Given the description of an element on the screen output the (x, y) to click on. 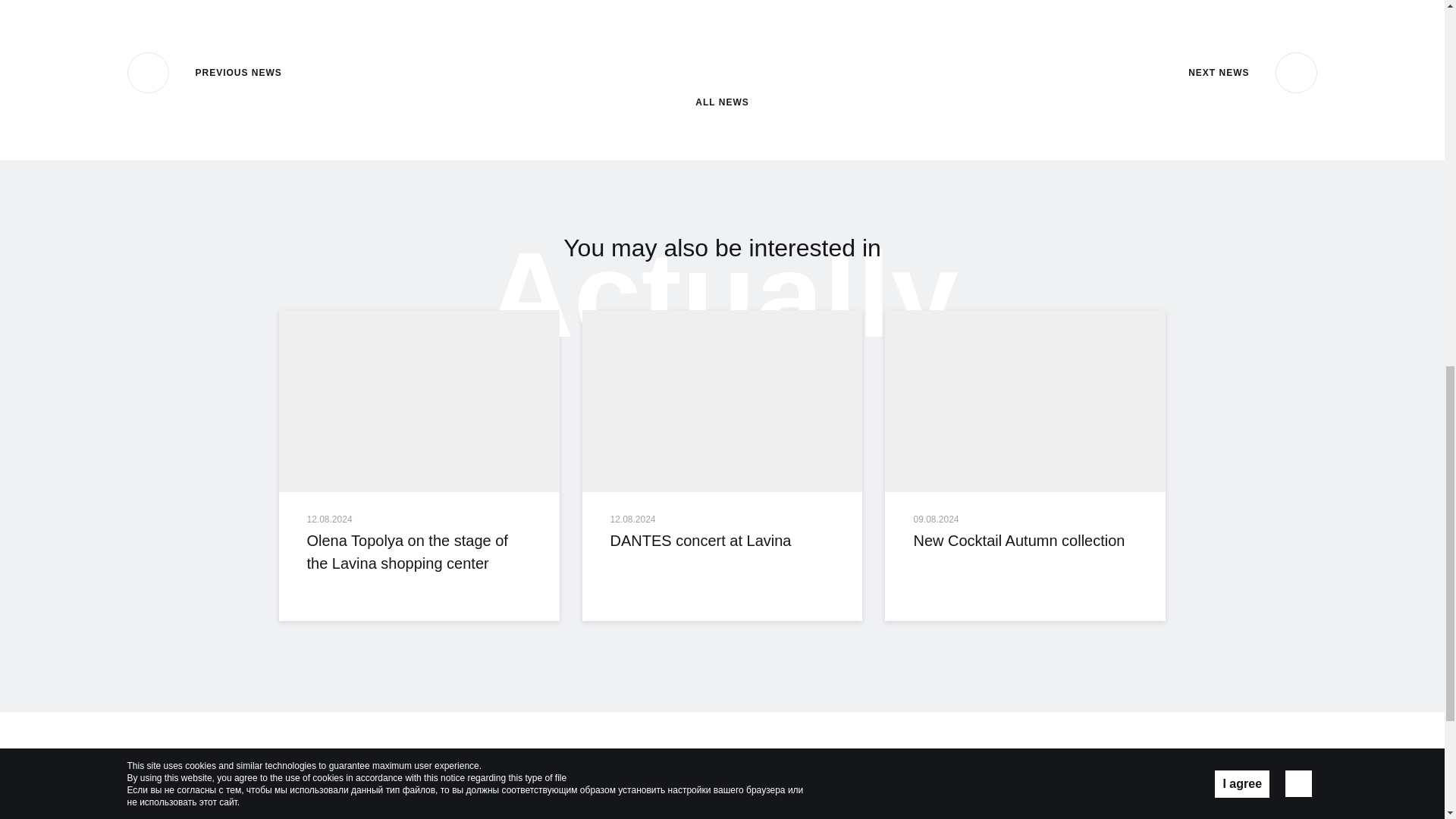
ALL NEWS (721, 79)
DANTES concert at Lavina (722, 401)
Olena Topolya on the stage of the Lavina shopping center (418, 551)
New Cocktail Autumn collection (1024, 540)
DANTES concert at Lavina (722, 540)
Olena Topolya on the stage of the Lavina shopping center (419, 401)
New Cocktail Autumn collection (1025, 401)
PREVIOUS NEWS (205, 72)
NEXT NEWS (1252, 72)
